Given the description of an element on the screen output the (x, y) to click on. 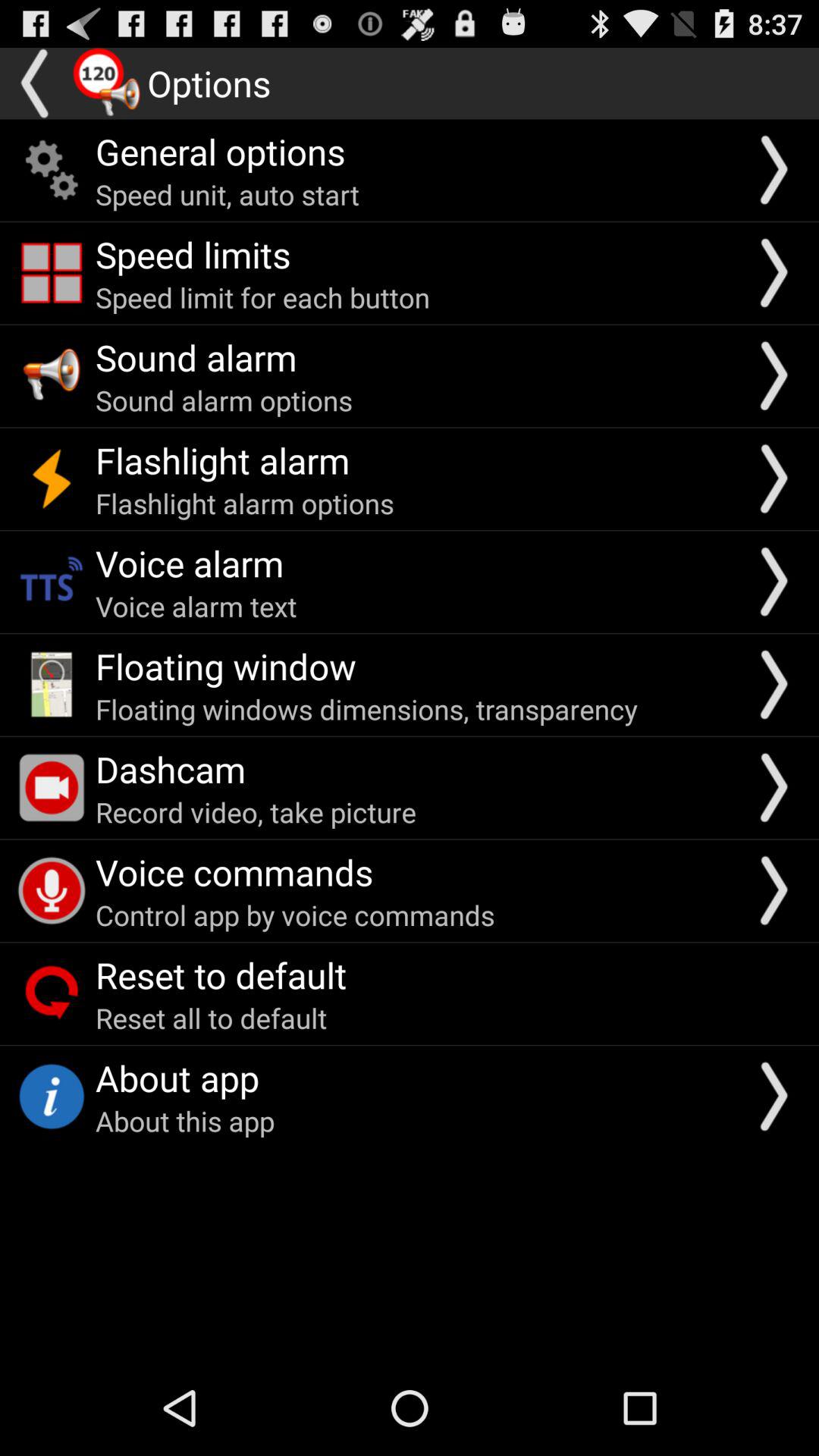
this button is to return to the previous page (35, 83)
